Given the description of an element on the screen output the (x, y) to click on. 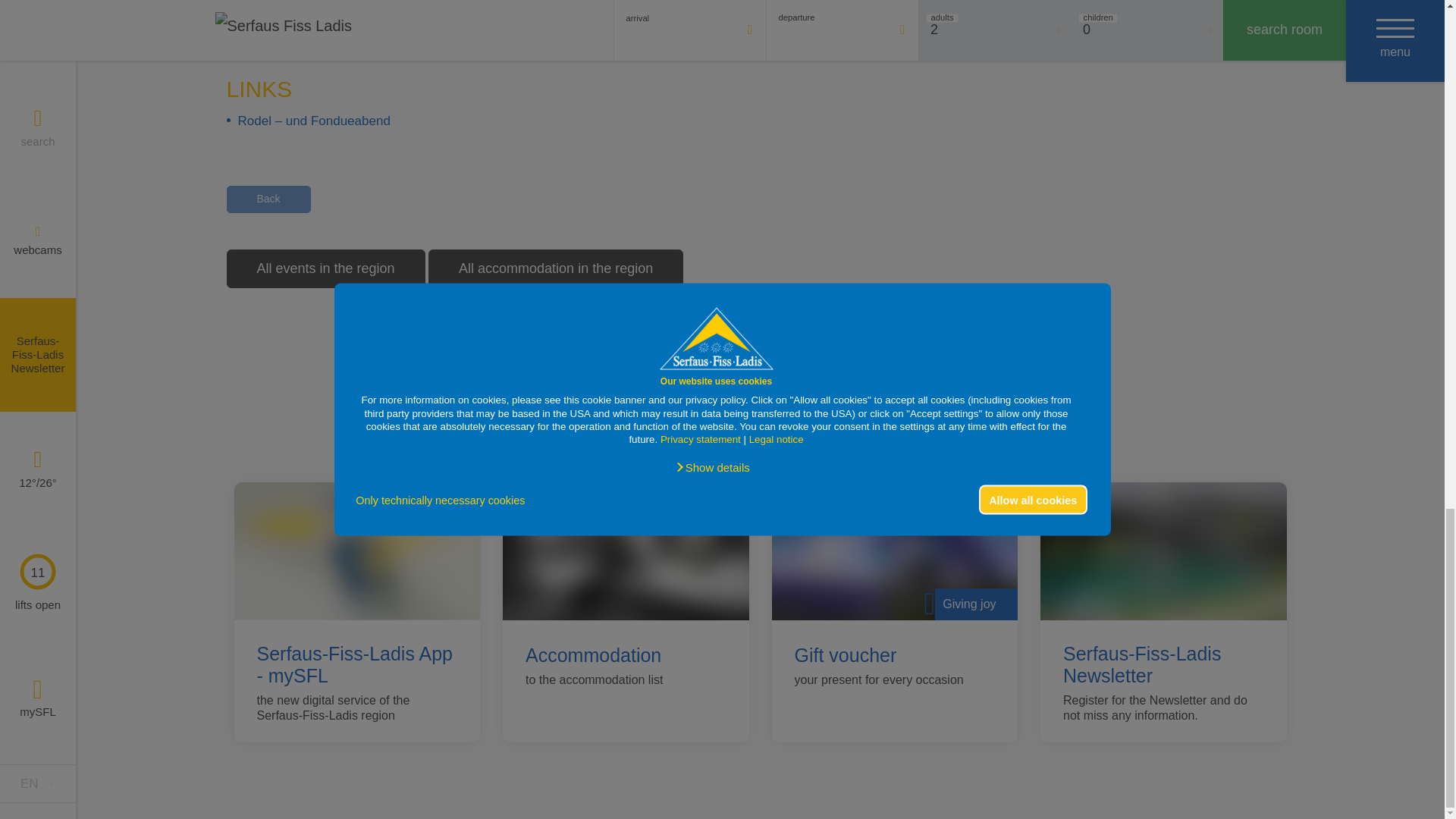
Back (267, 198)
All events in the region (325, 268)
All accommodation in the region (555, 268)
